Given the description of an element on the screen output the (x, y) to click on. 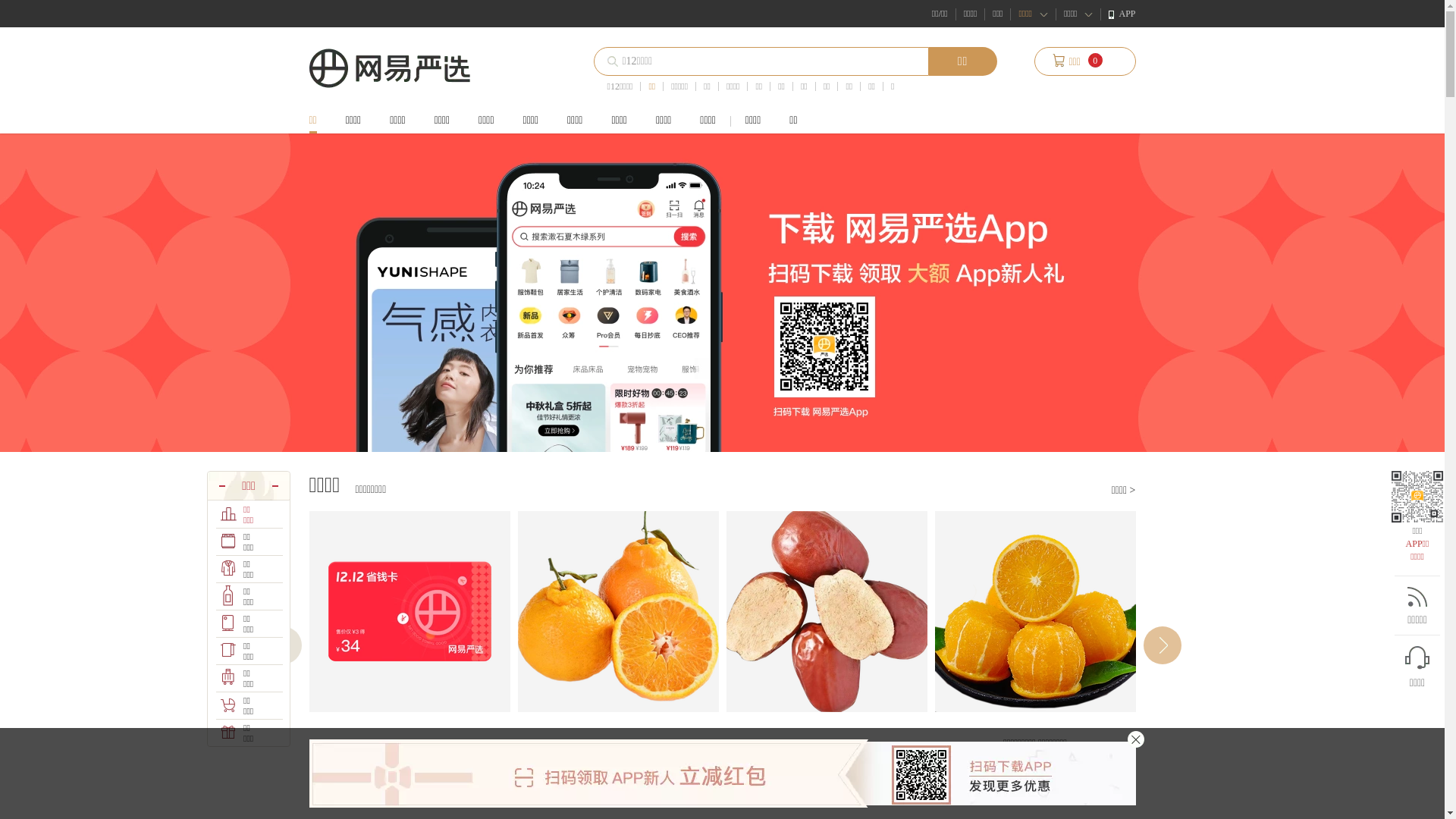
APP Element type: text (1121, 13)
